Given the description of an element on the screen output the (x, y) to click on. 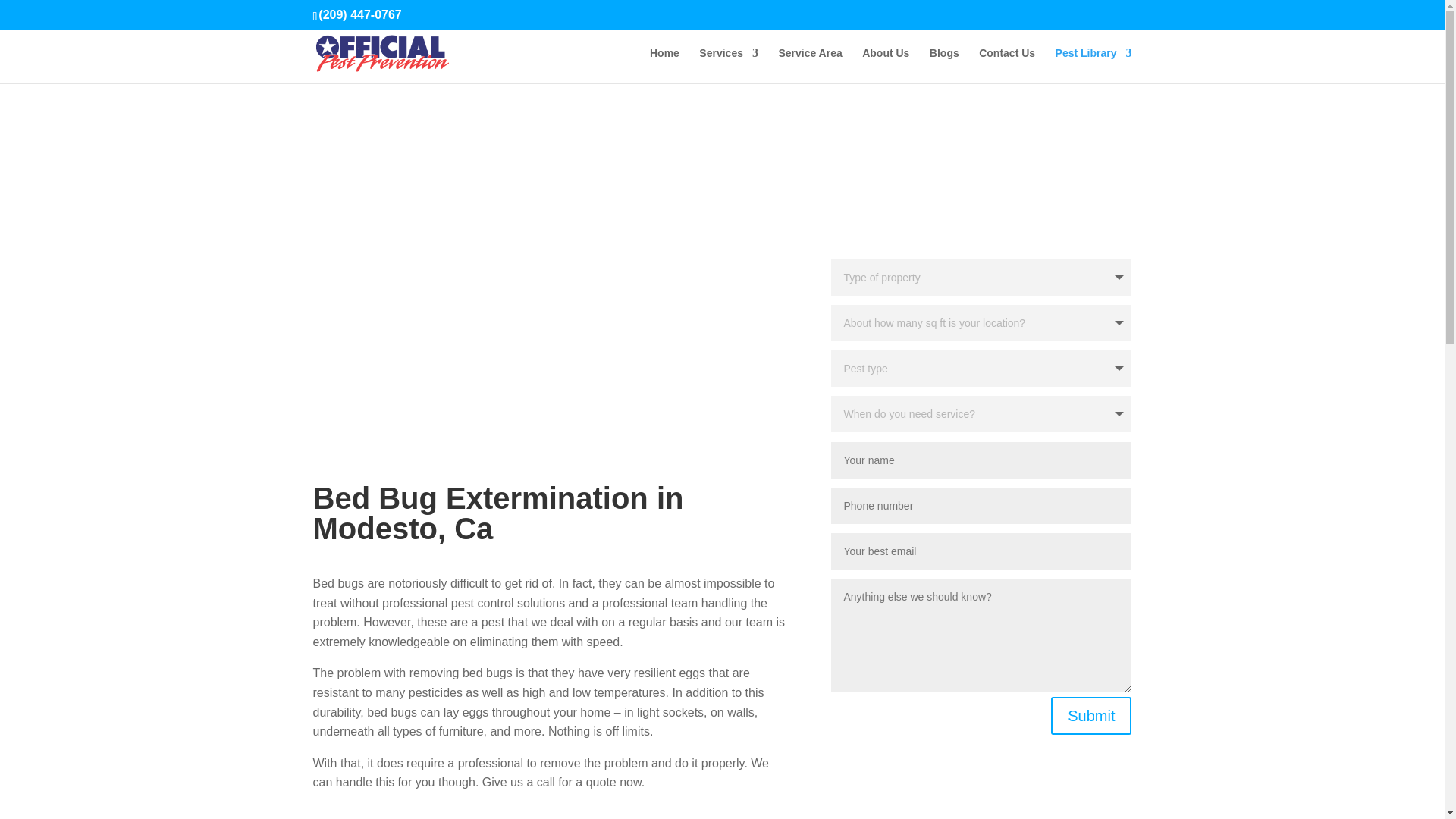
Submit (1091, 715)
About Us (884, 65)
Service Area (809, 65)
Services (728, 65)
Pest Library (1093, 65)
Contact Us (1006, 65)
